Given the description of an element on the screen output the (x, y) to click on. 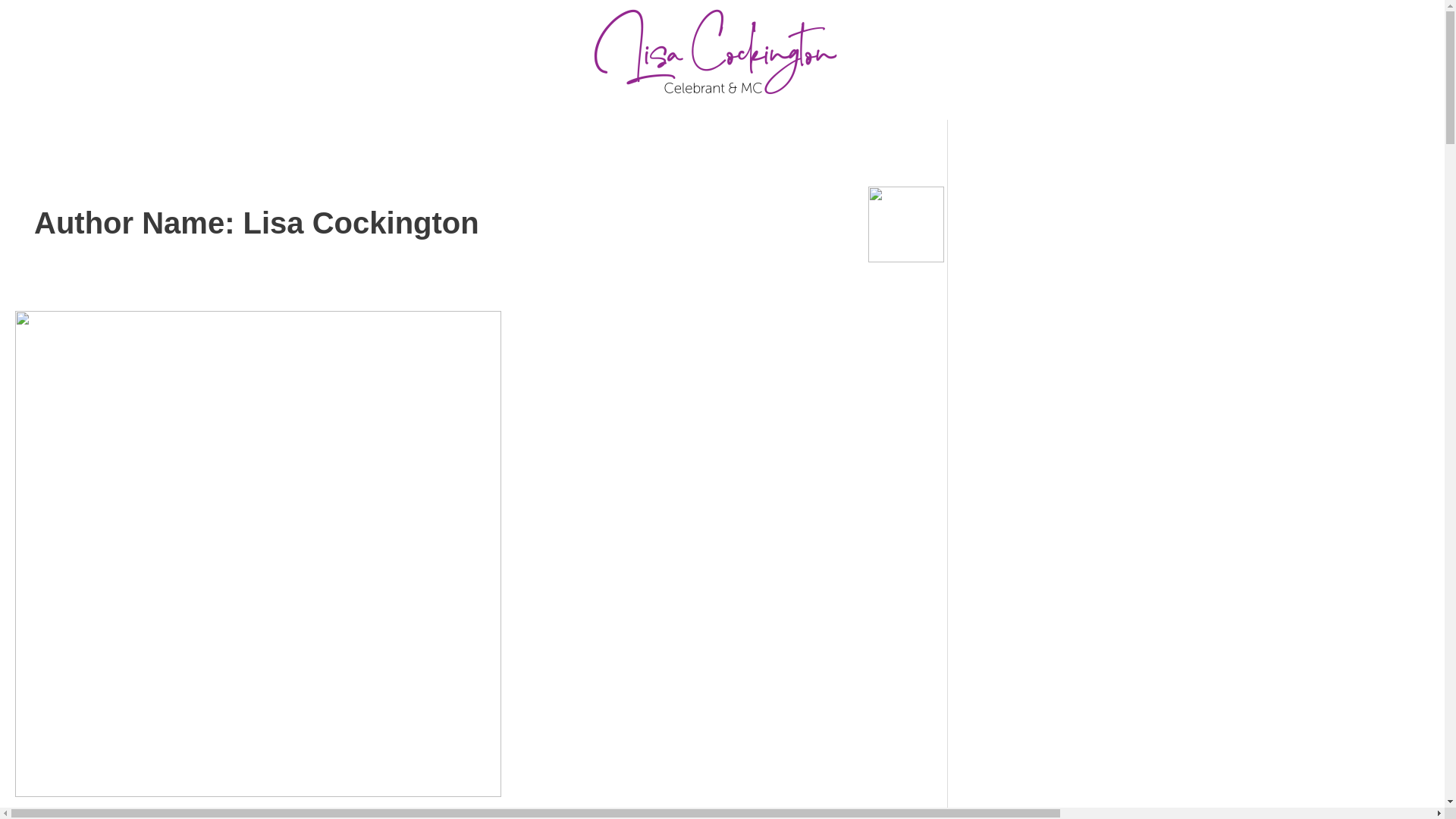
Asset 50-8 Element type: hover (721, 59)
